Given the description of an element on the screen output the (x, y) to click on. 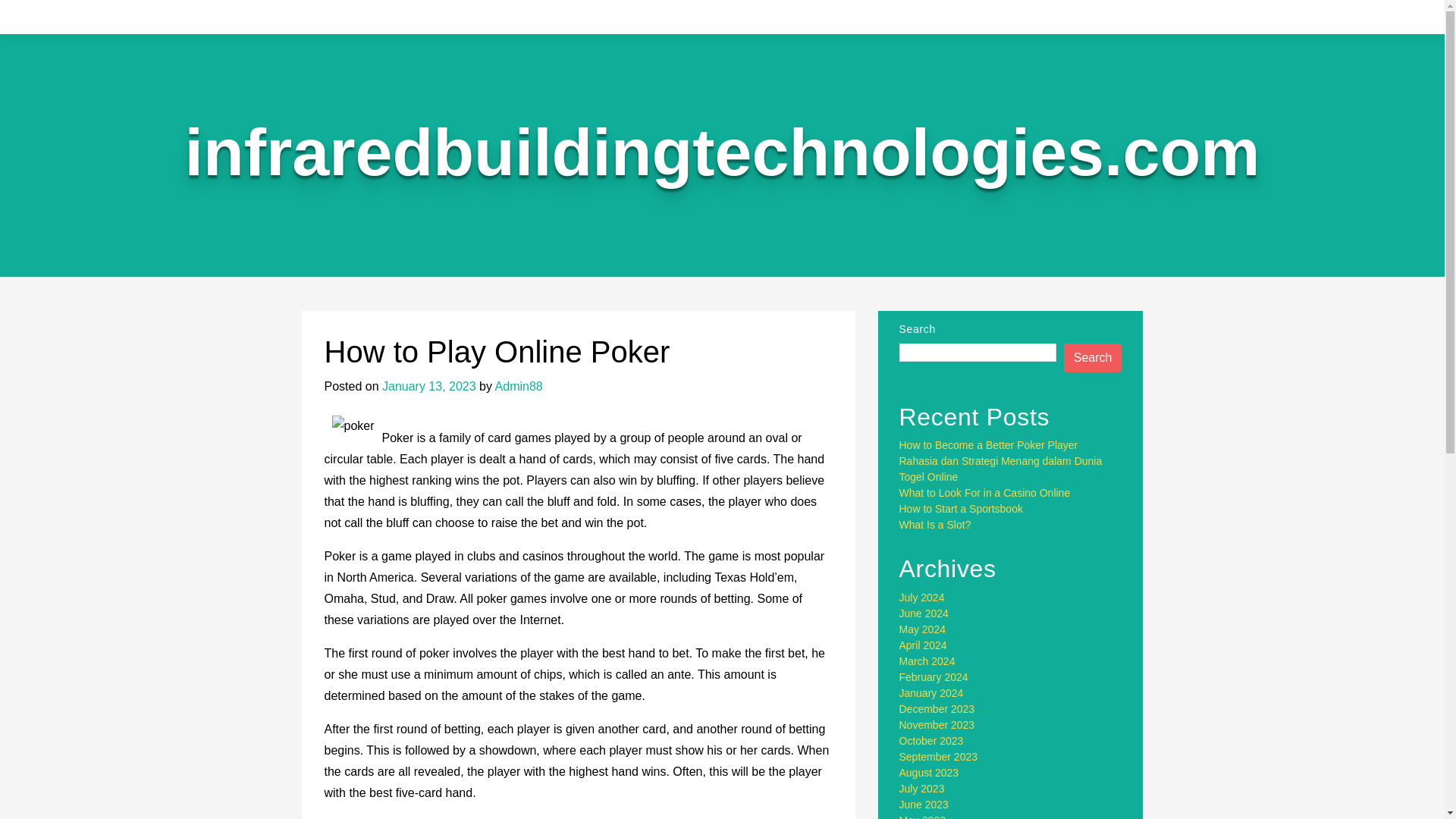
Rahasia dan Strategi Menang dalam Dunia Togel Online (1000, 469)
October 2023 (931, 740)
January 13, 2023 (428, 386)
July 2024 (921, 597)
March 2024 (927, 661)
What to Look For in a Casino Online (984, 492)
June 2024 (924, 613)
Admin88 (519, 386)
April 2024 (923, 645)
December 2023 (937, 708)
How to Start a Sportsbook (961, 508)
February 2024 (933, 676)
January 2024 (931, 693)
November 2023 (937, 725)
Search (1093, 357)
